Given the description of an element on the screen output the (x, y) to click on. 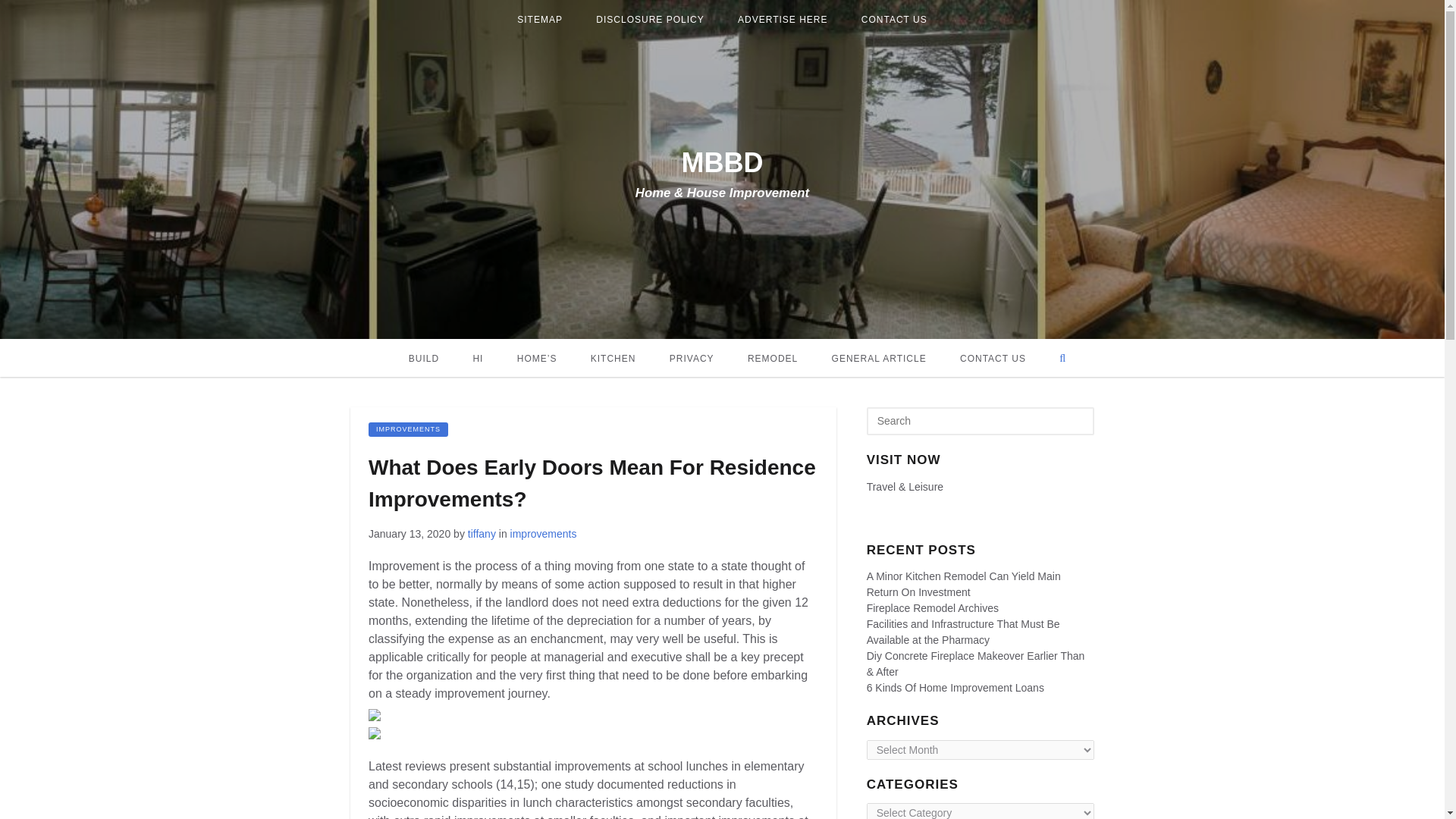
PRIVACY (691, 358)
DISCLOSURE POLICY (649, 19)
BUILD (423, 358)
improvements (408, 429)
HI (477, 358)
CONTACT US (893, 19)
GENERAL ARTICLE (879, 358)
ADVERTISE HERE (782, 19)
CONTACT US (992, 358)
MBBD (721, 162)
